Given the description of an element on the screen output the (x, y) to click on. 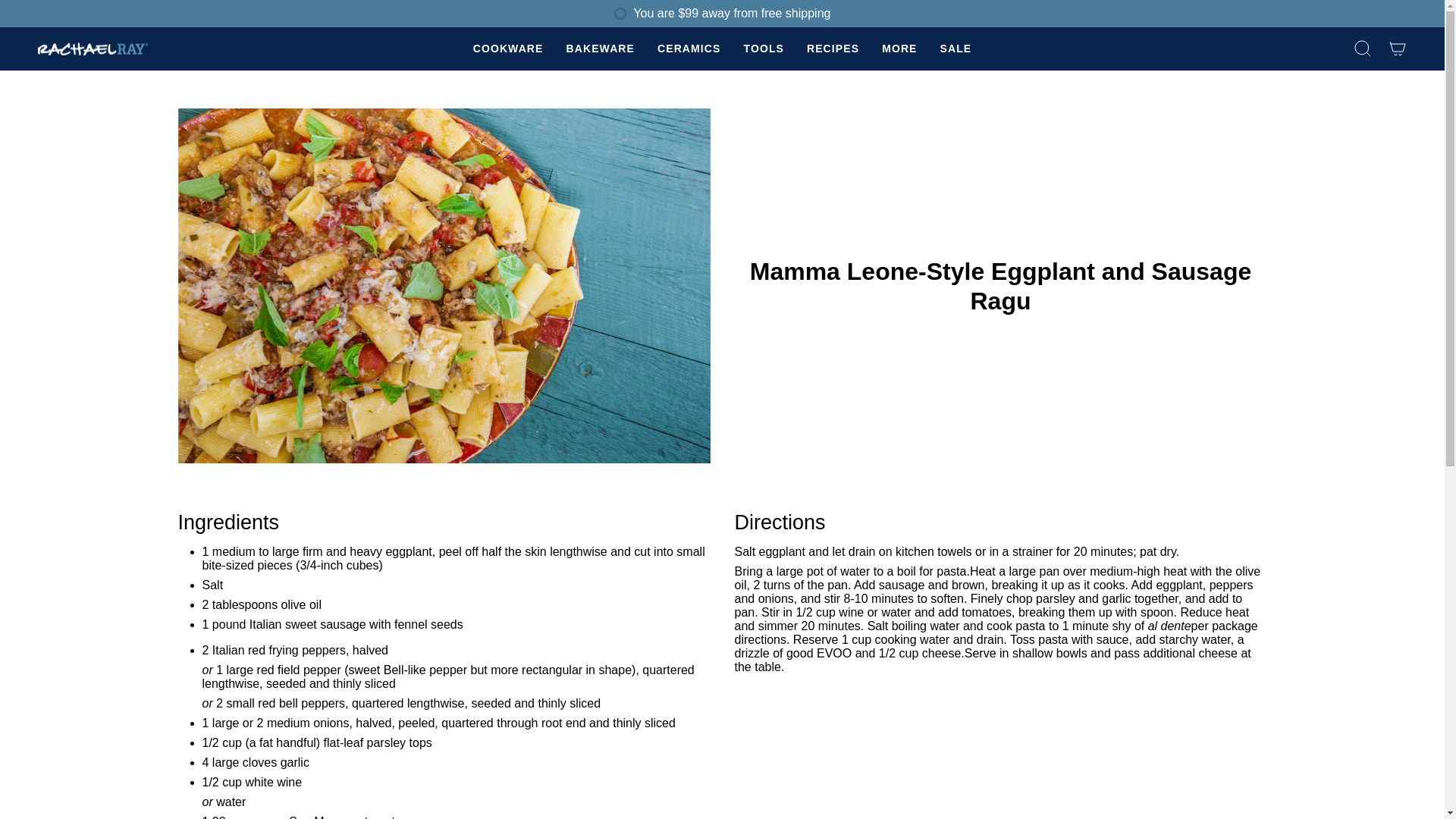
Search (1362, 48)
Cart (1397, 48)
COOKWARE (507, 48)
